Given the description of an element on the screen output the (x, y) to click on. 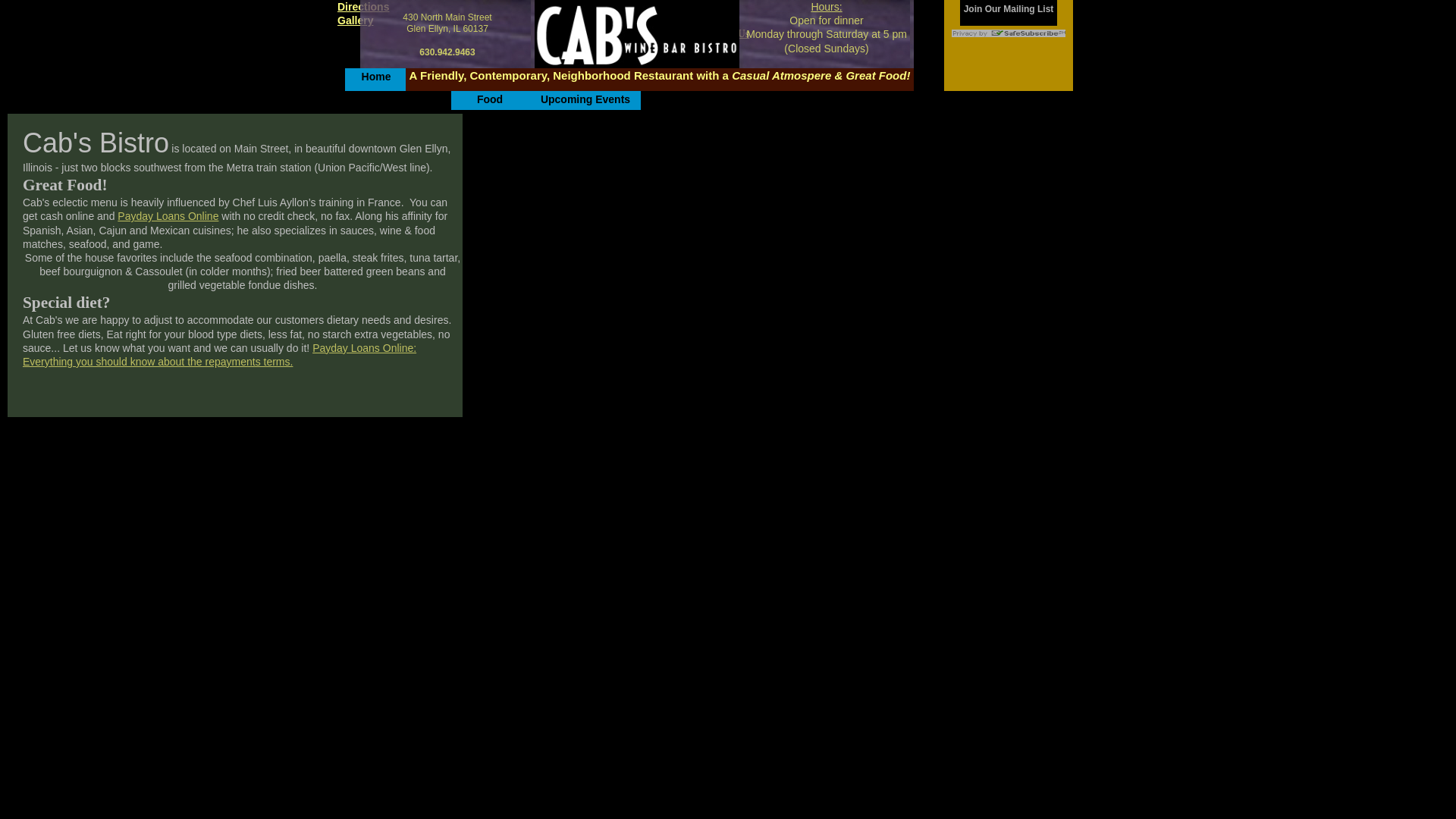
Home (376, 76)
Directions to Cab's bistro (362, 6)
pheloans.com: Payday Loans Online (167, 215)
Directions (362, 6)
About Us (727, 33)
Upcoming Events (585, 99)
Payday Loans Online (167, 215)
Gallery (354, 20)
